Given the description of an element on the screen output the (x, y) to click on. 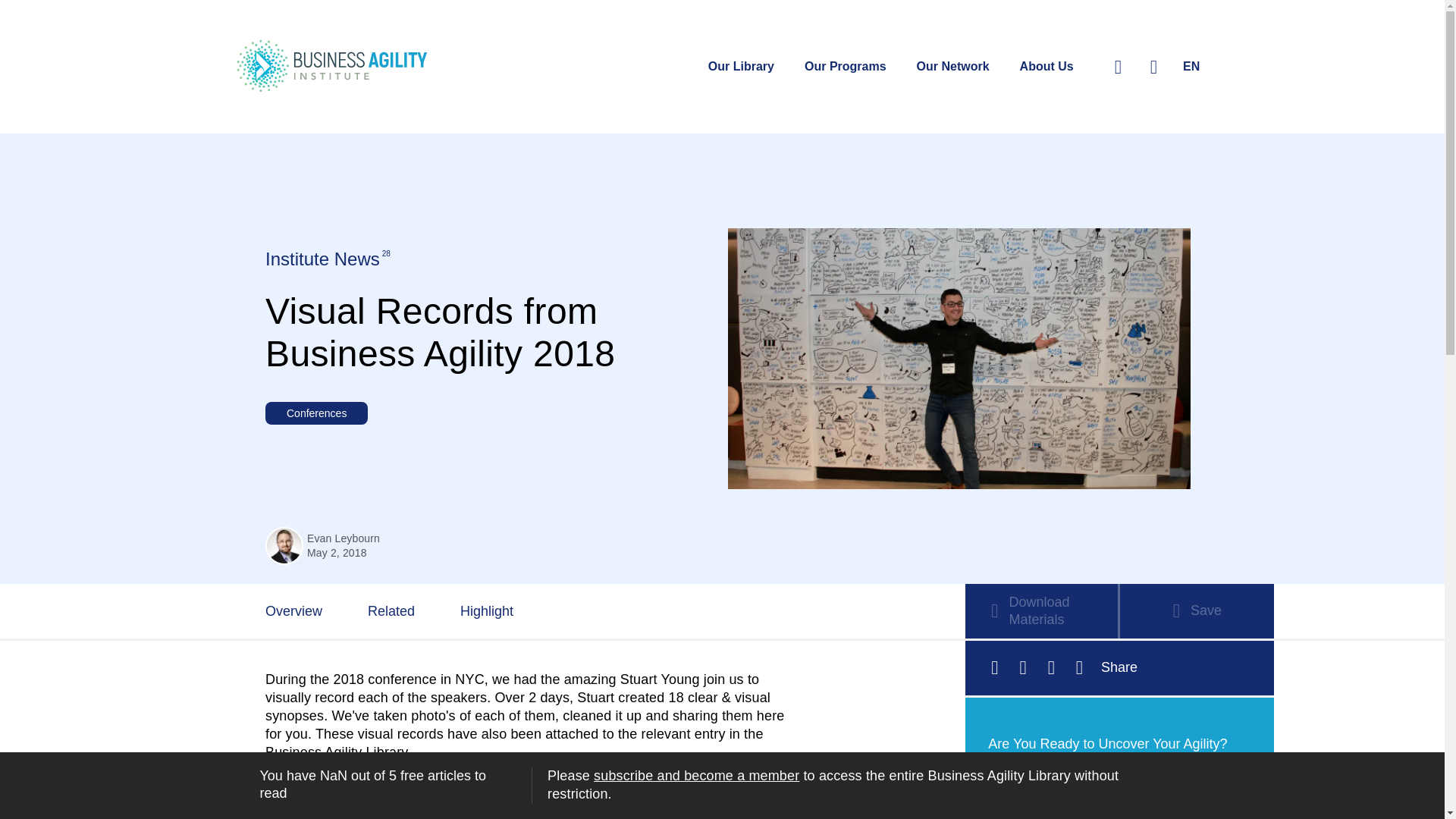
Highlight (486, 612)
Business Agility Library (335, 752)
Related (391, 612)
Conferences (316, 413)
subscribe and become a member (696, 775)
Our Network (953, 66)
Overview (294, 612)
Institute News28 (326, 259)
Our Programs (845, 66)
Our Library (740, 66)
